Given the description of an element on the screen output the (x, y) to click on. 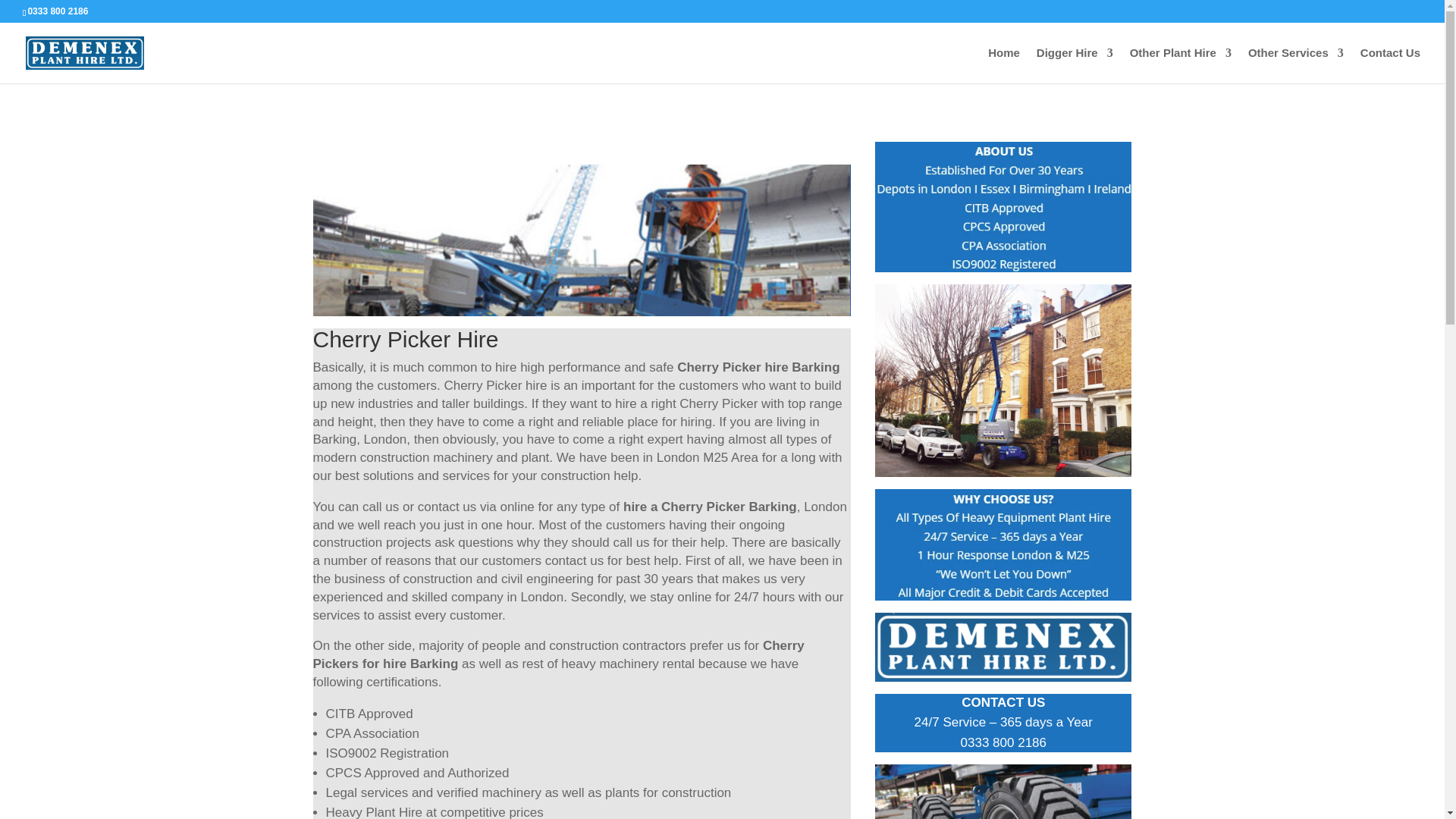
plant and machinery hire (1003, 544)
Other Services (1295, 65)
plant and machinery hire (1003, 646)
cherry picker hire in london (1003, 791)
Digger Hire (1074, 65)
Other Plant Hire (1180, 65)
Home (1004, 65)
Contact Us (1390, 65)
